Given the description of an element on the screen output the (x, y) to click on. 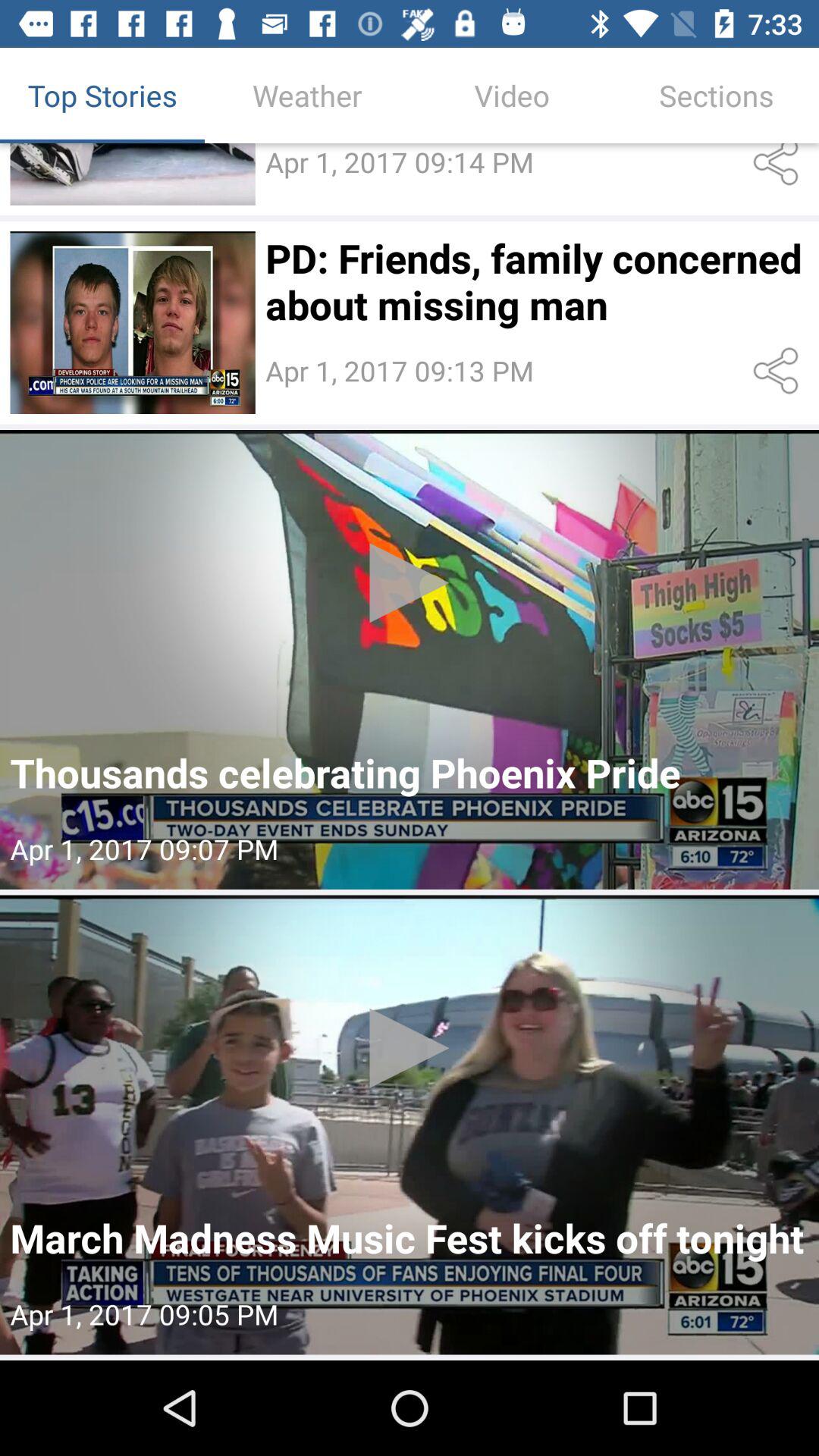
share article (778, 167)
